Given the description of an element on the screen output the (x, y) to click on. 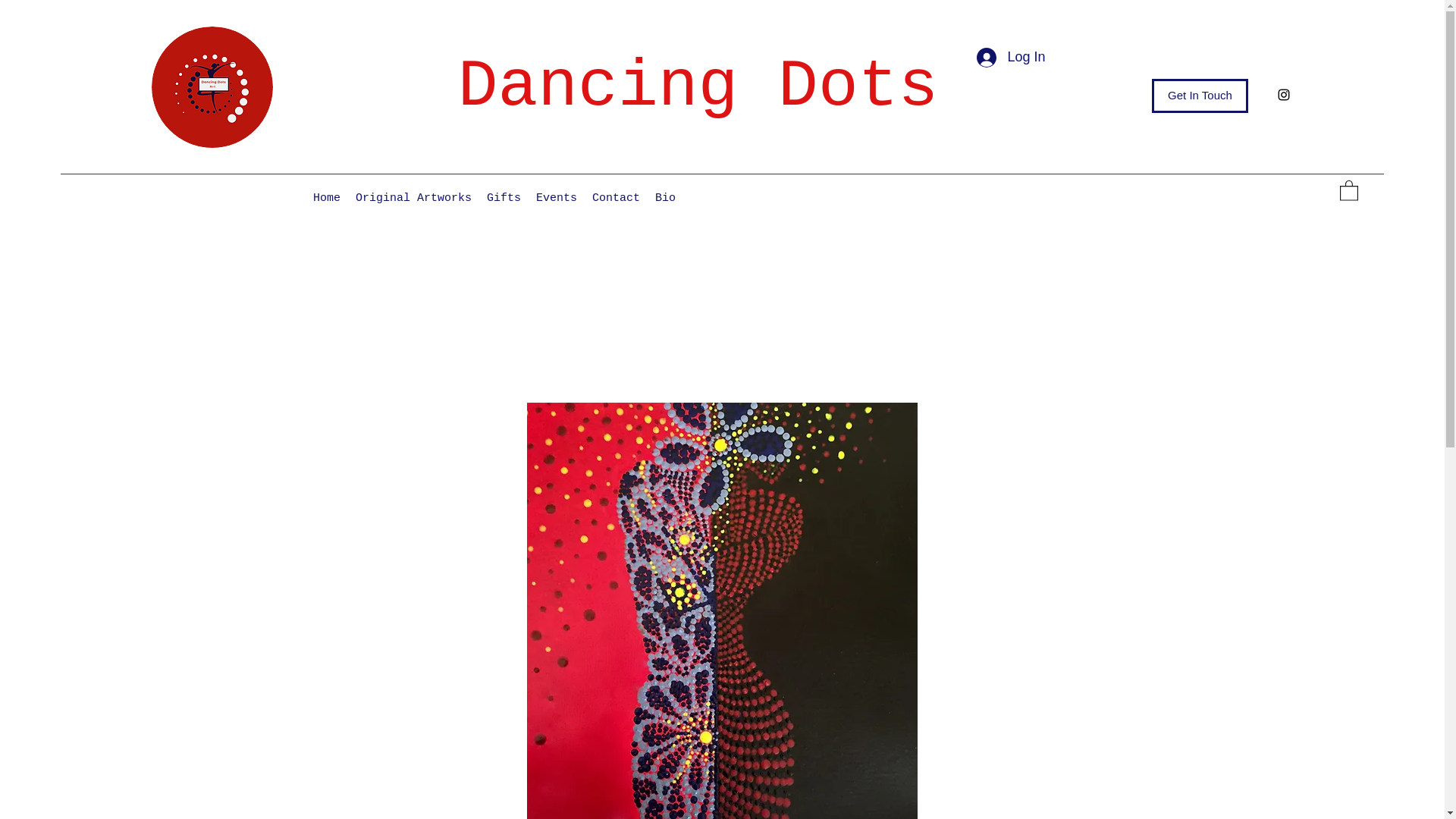
Gifts (503, 198)
Bio (664, 198)
Events (556, 198)
Home (326, 198)
Original Artworks (413, 198)
Log In (1010, 57)
Contact (616, 198)
